Given the description of an element on the screen output the (x, y) to click on. 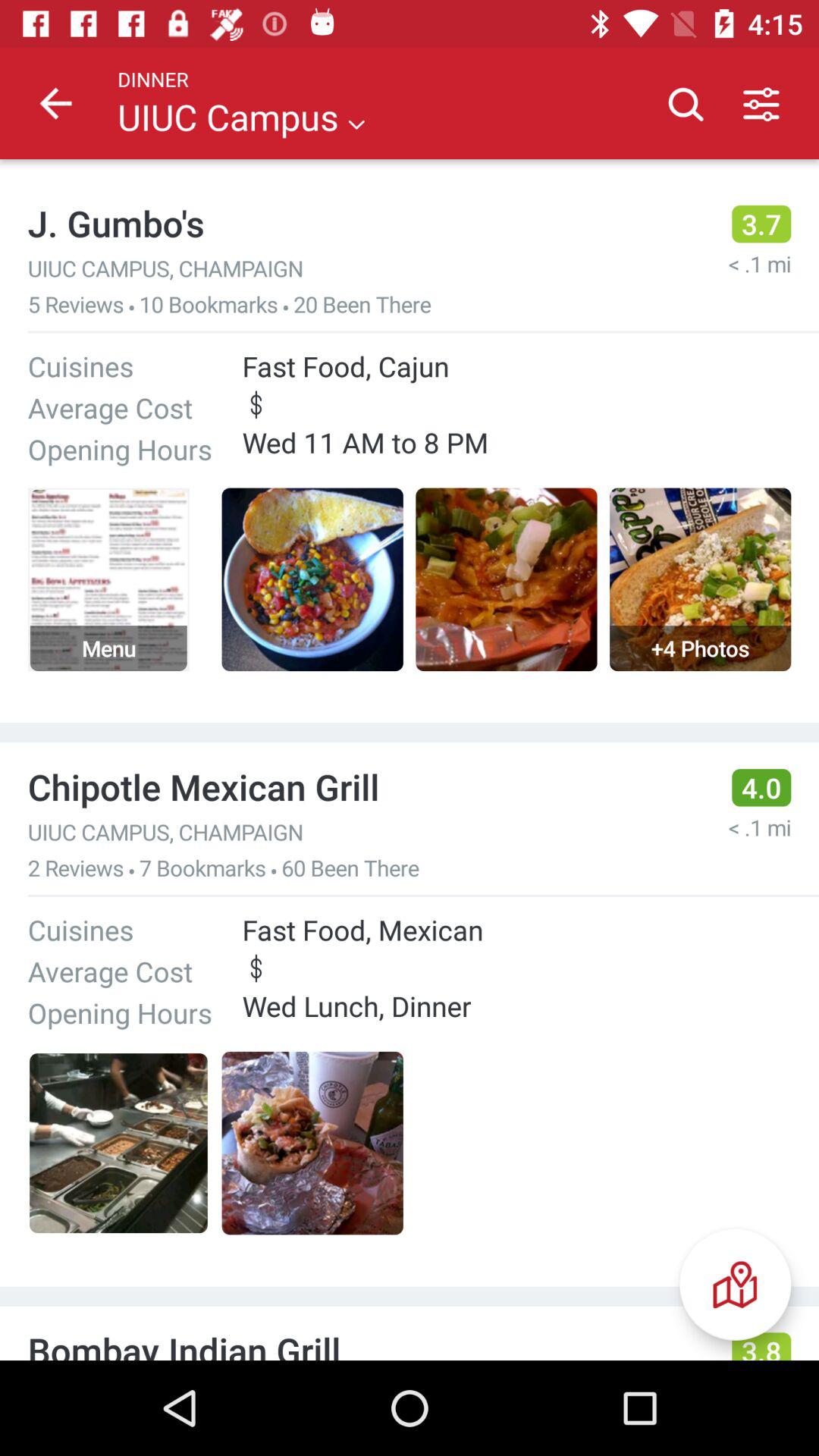
click on the text menu (108, 579)
